Given the description of an element on the screen output the (x, y) to click on. 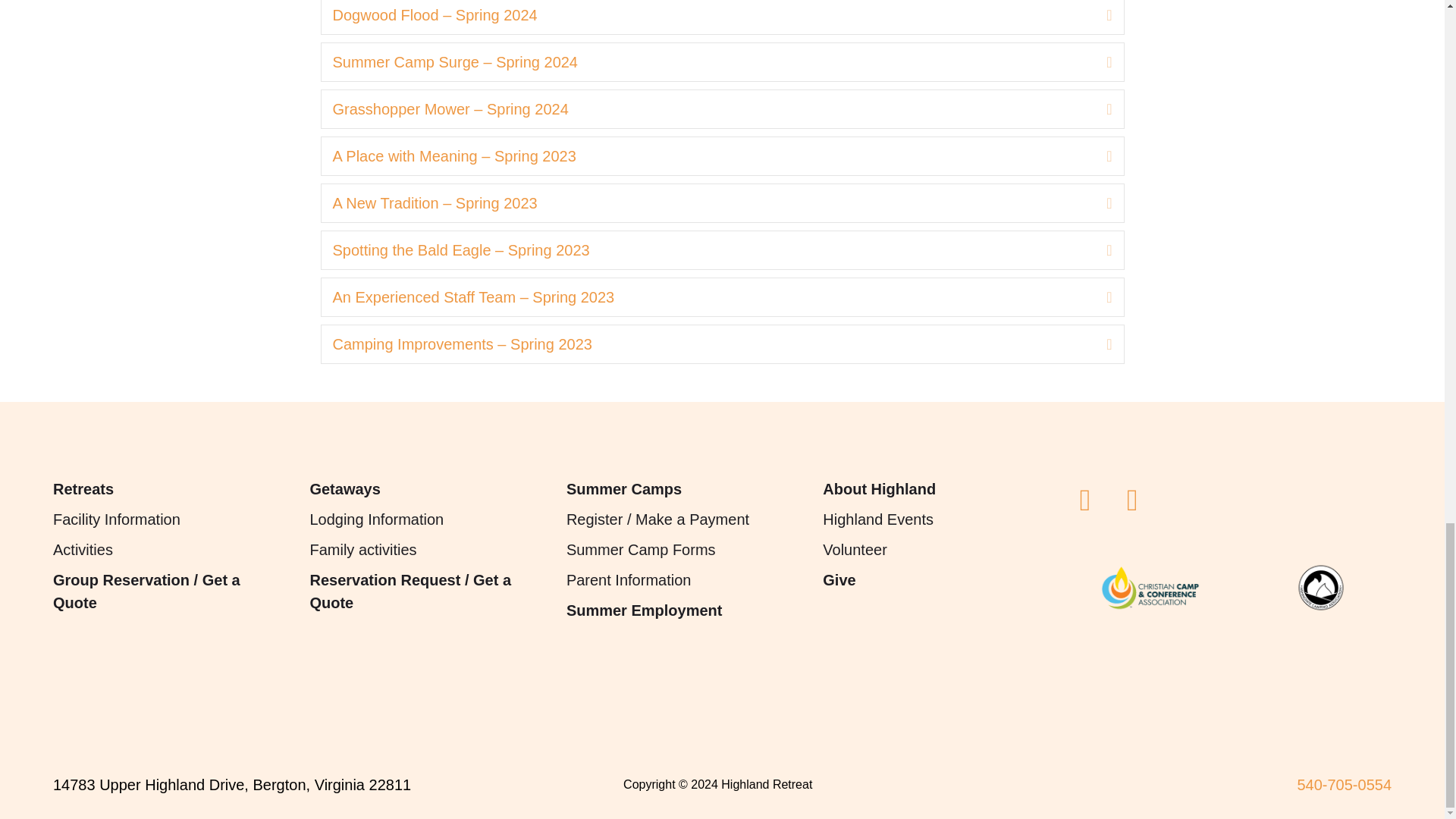
Mennonite Camping Association (1321, 587)
Christian Camp and Conference Association (1149, 587)
